Given the description of an element on the screen output the (x, y) to click on. 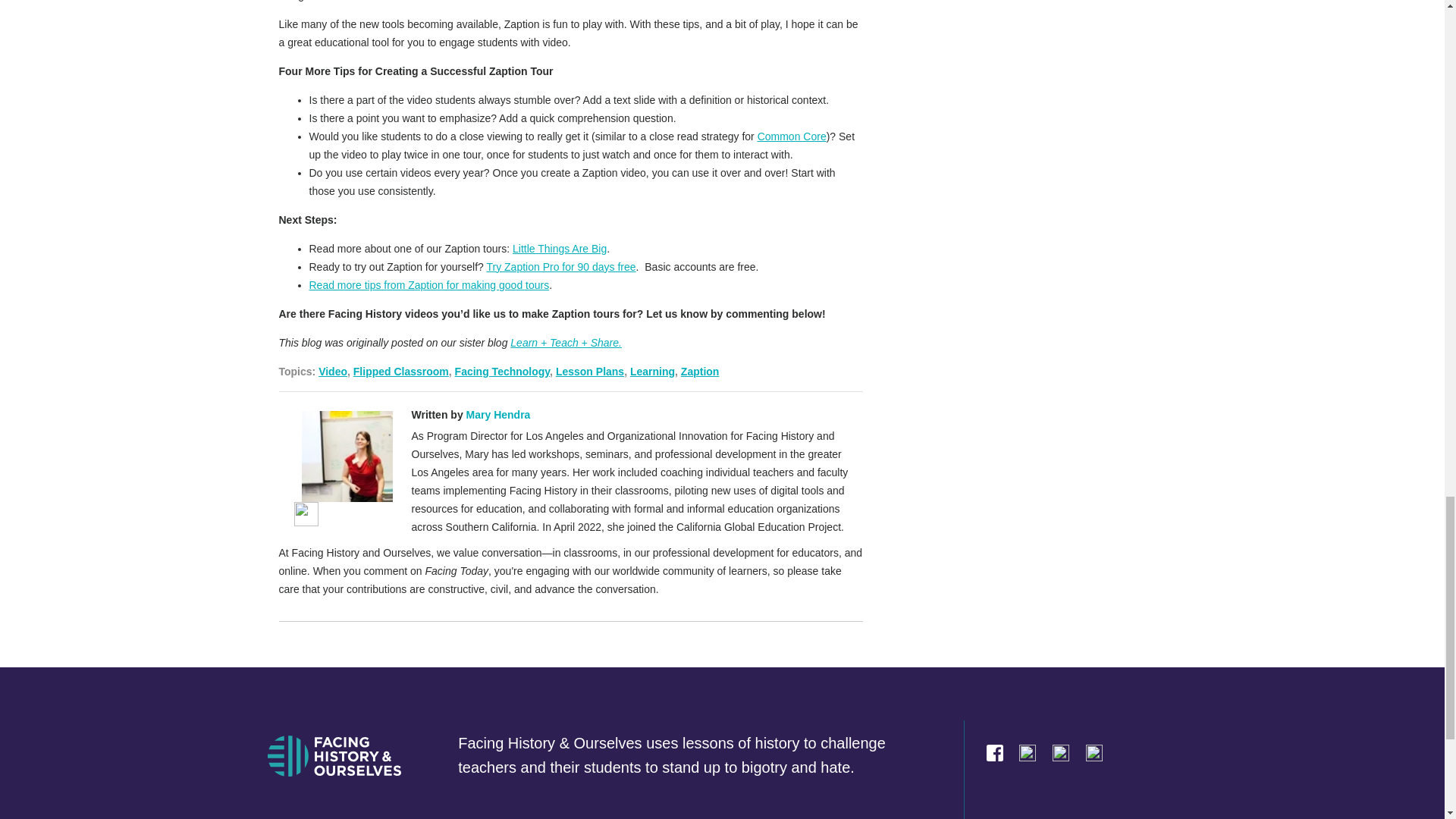
Common Core (792, 136)
Try Zaption Pro for 90 days free (560, 266)
Zaption (700, 371)
Learning (652, 371)
Flipped Classroom (400, 371)
Mary Hendra (498, 414)
Video (332, 371)
Read more tips from Zaption for making good tours (429, 285)
Little Things Are Big (559, 248)
Lesson Plans (590, 371)
Facing Technology (502, 371)
